Given the description of an element on the screen output the (x, y) to click on. 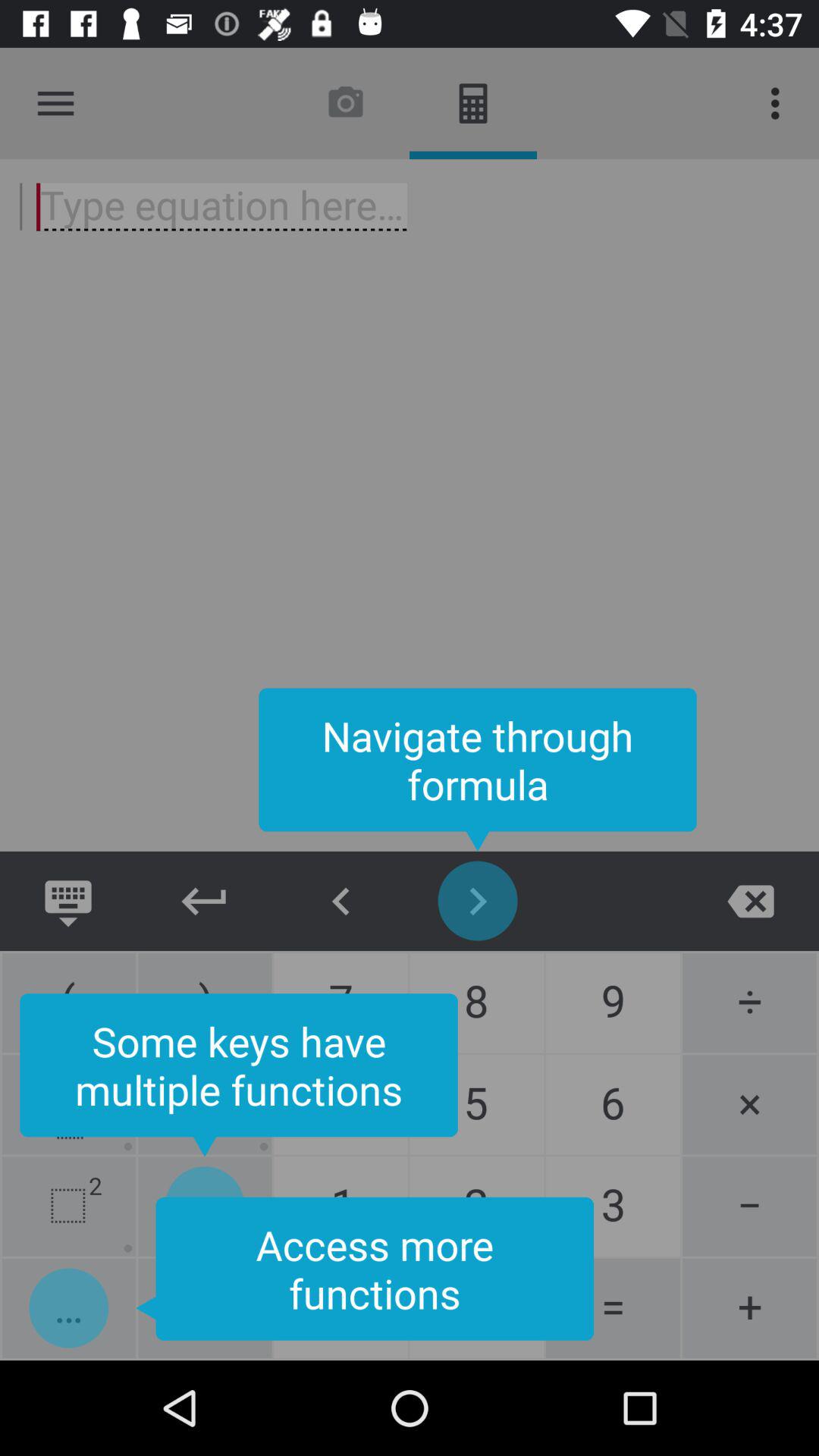
go back button (204, 900)
